Given the description of an element on the screen output the (x, y) to click on. 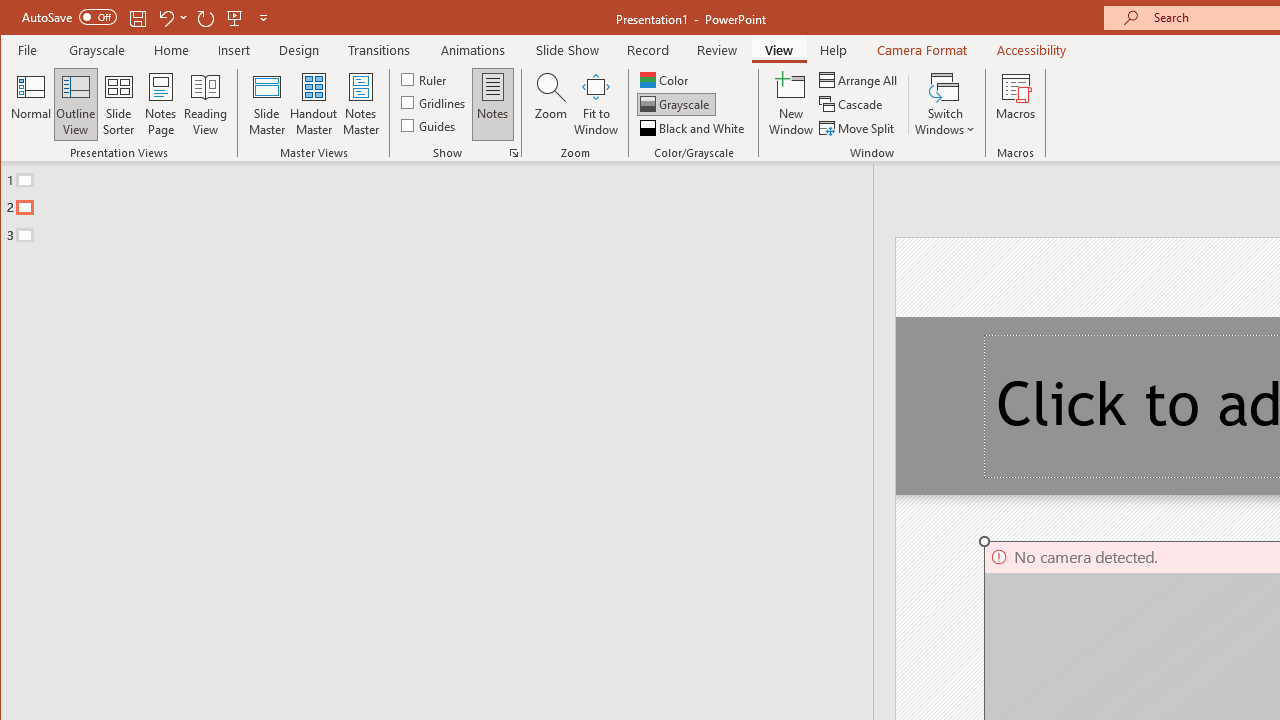
Macros (1016, 104)
Grayscale (97, 50)
Camera Format (921, 50)
Gridlines (435, 101)
Arrange All (859, 80)
